Given the description of an element on the screen output the (x, y) to click on. 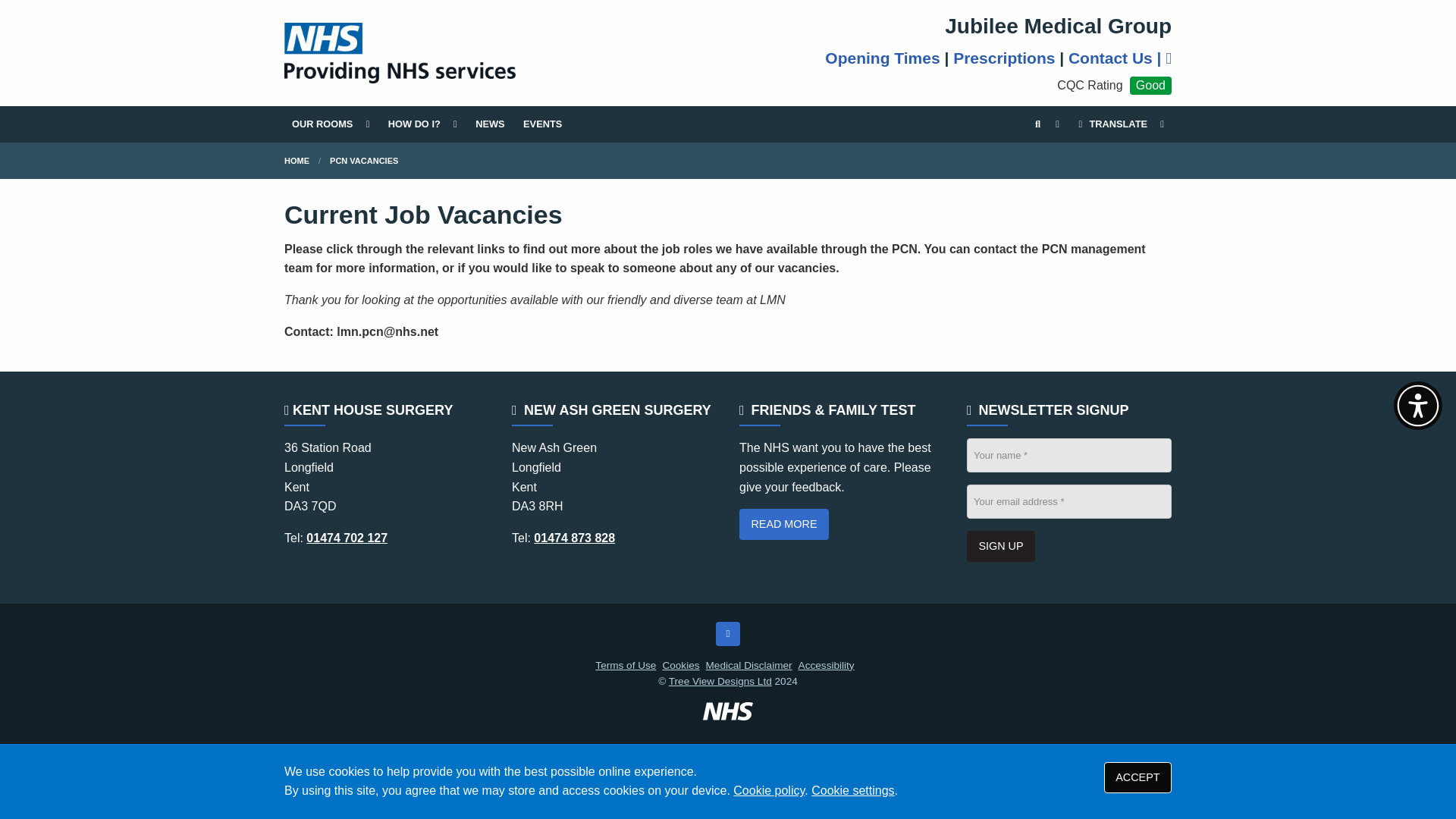
TRANSLATE (1119, 124)
01474 873 828 (574, 537)
EVENTS (542, 124)
HOW DO I? (422, 124)
Accessibility Menu (1417, 405)
Good (1150, 85)
01474 702 127 (346, 537)
NEWS (489, 124)
PCN VACANCIES (363, 160)
HOME (295, 160)
Opening Times (882, 57)
OUR ROOMS (330, 124)
Prescriptions (1003, 57)
